Given the description of an element on the screen output the (x, y) to click on. 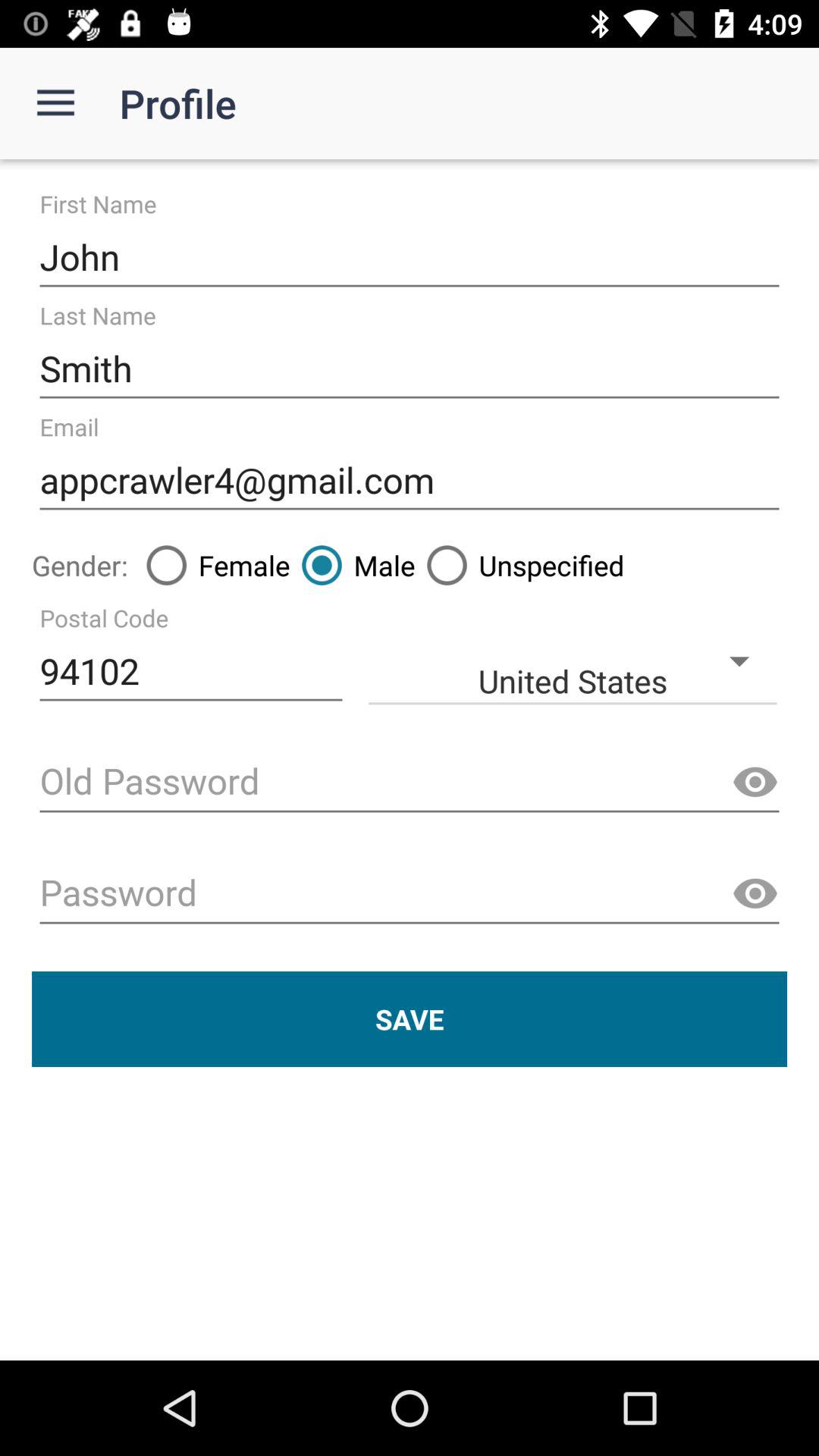
select the item to the left of male (212, 565)
